Given the description of an element on the screen output the (x, y) to click on. 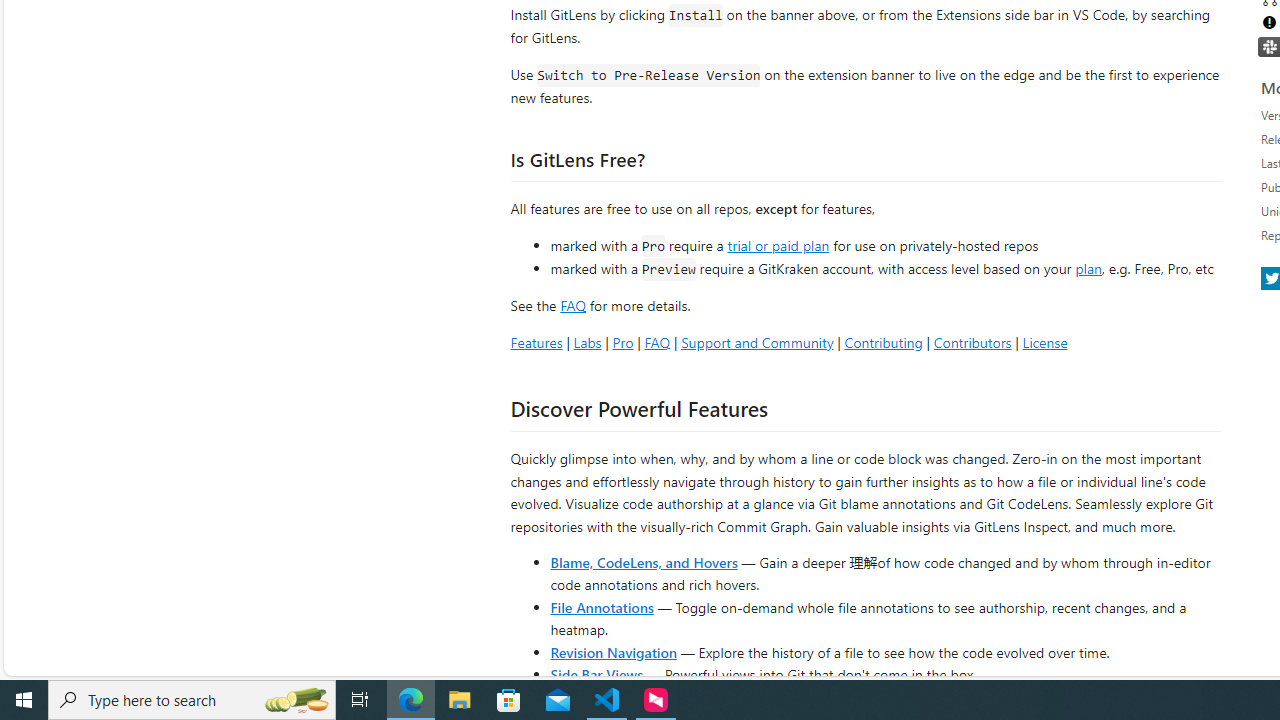
FAQ (656, 341)
License (1044, 341)
Pro (622, 341)
Support and Community (757, 341)
Blame, CodeLens, and Hovers (644, 561)
Contributing (882, 341)
Features (536, 341)
File Annotations (602, 606)
Contributors (972, 341)
Labs (587, 341)
